Given the description of an element on the screen output the (x, y) to click on. 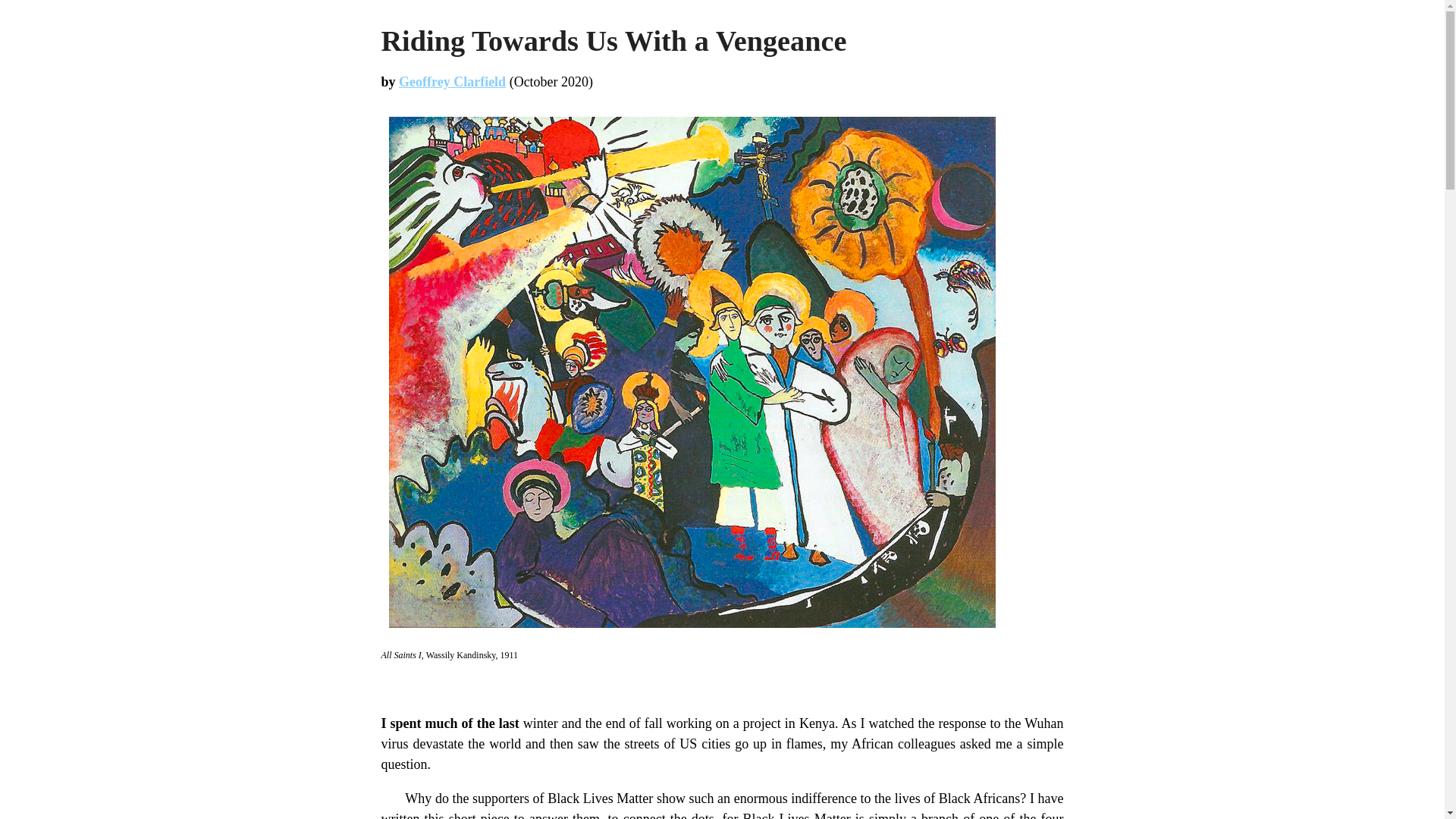
Geoffrey Clarfield (451, 81)
